Given the description of an element on the screen output the (x, y) to click on. 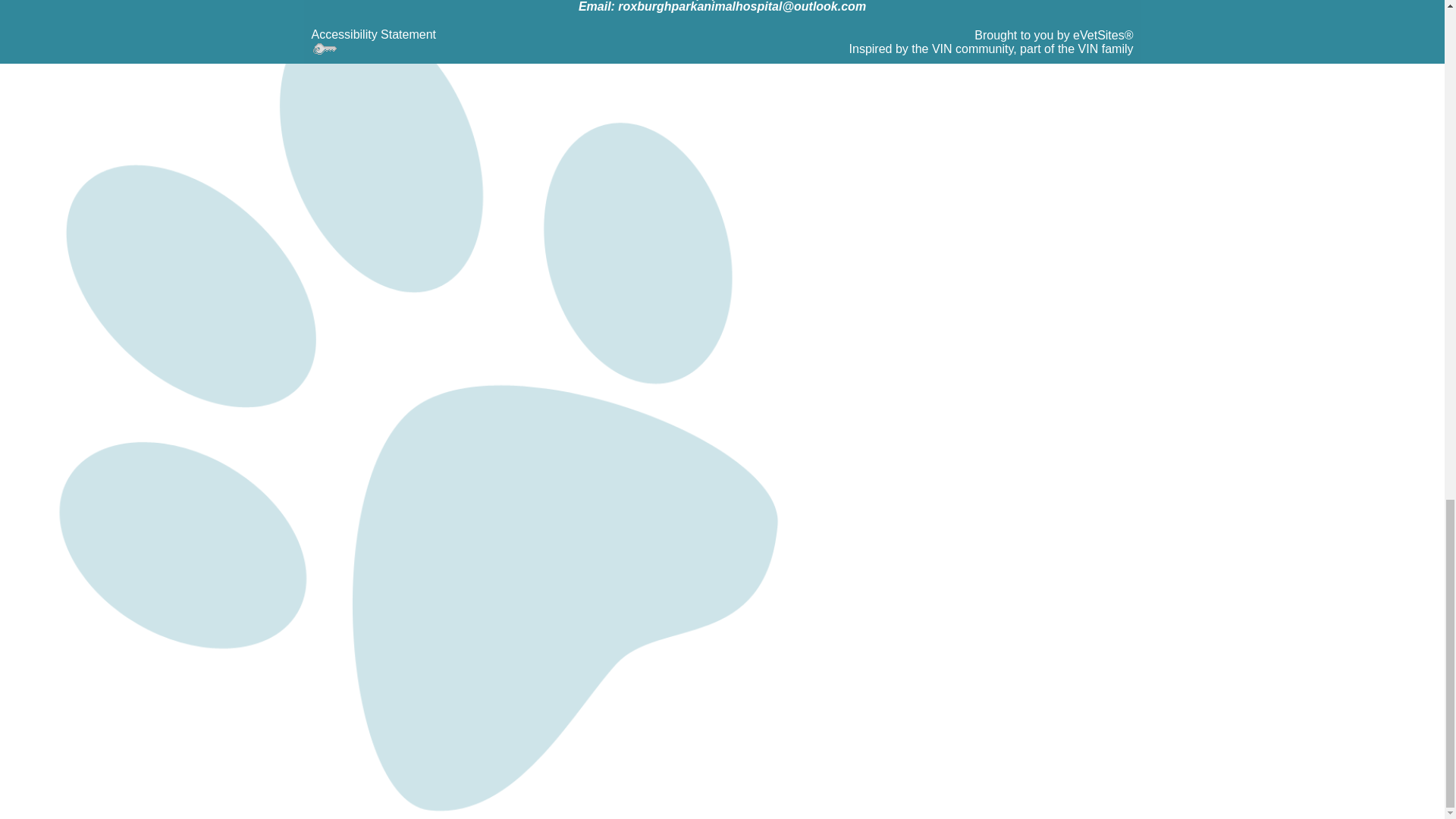
Veterinary Website Design (991, 48)
View Accessibility Statement (373, 33)
email today (741, 6)
